Given the description of an element on the screen output the (x, y) to click on. 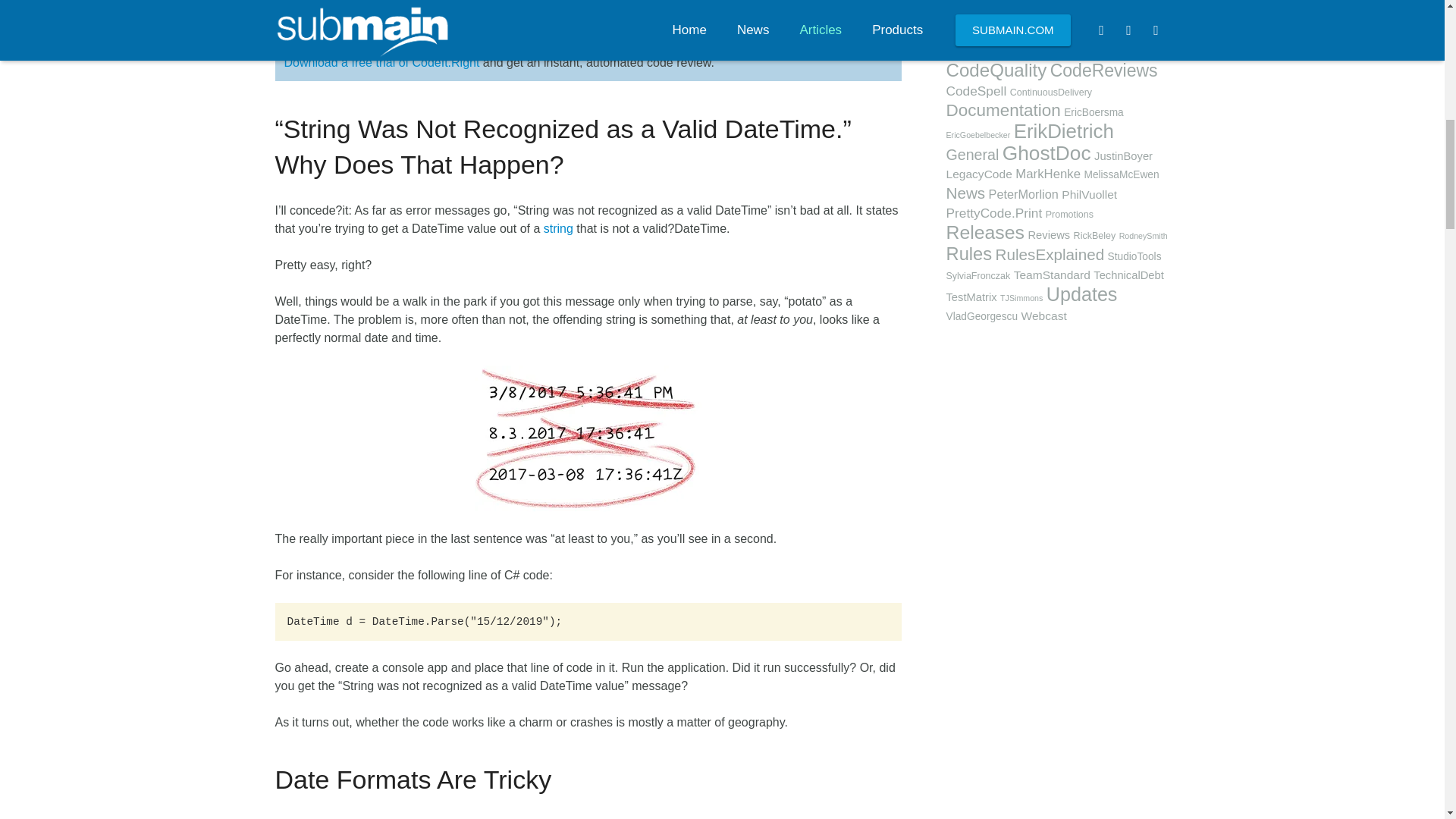
Download a free trial of CodeIt.Right (381, 62)
string (558, 228)
Back to top (1411, 28)
